Given the description of an element on the screen output the (x, y) to click on. 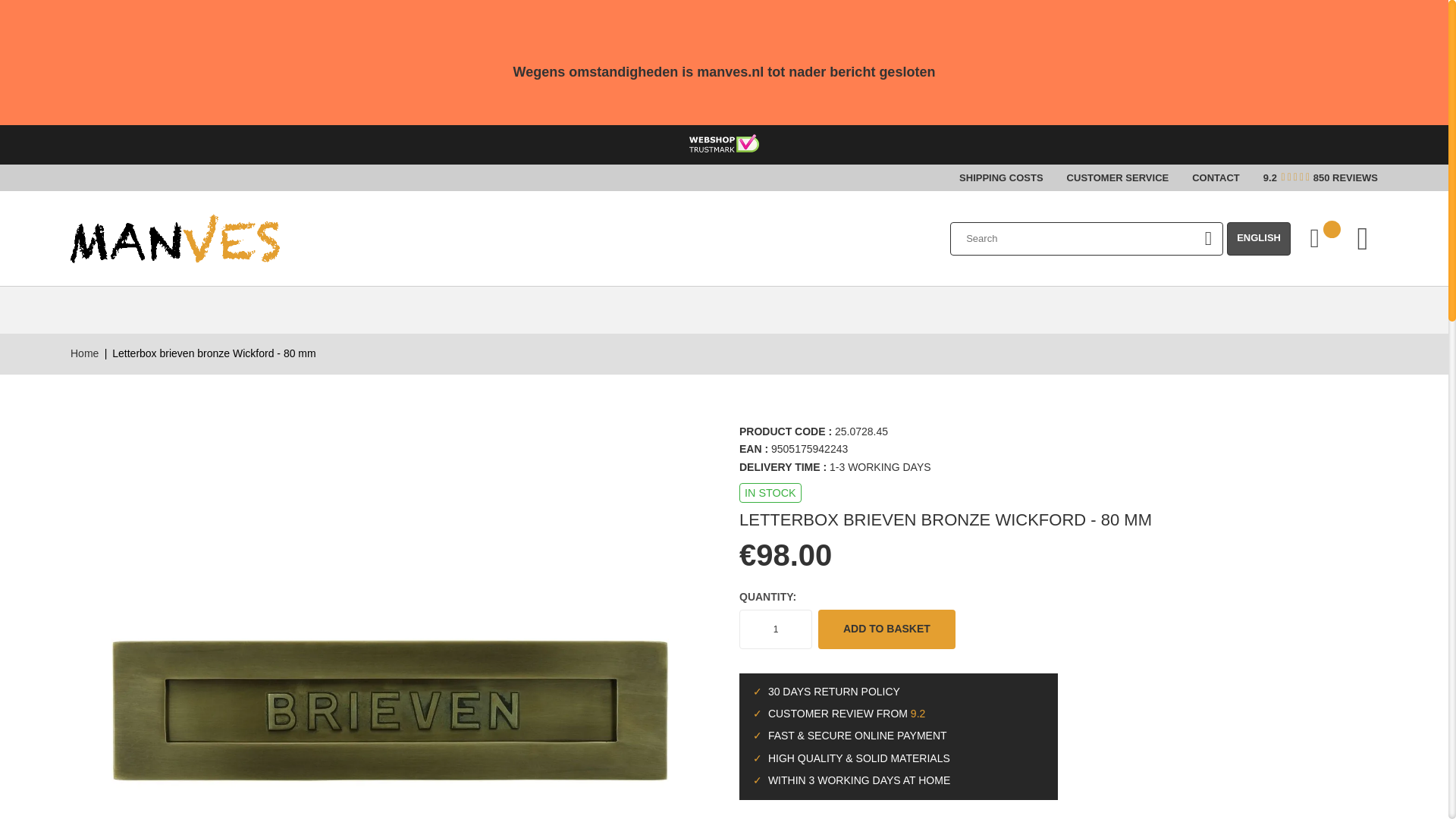
CUSTOMER SERVICE (1118, 177)
9.2 850 REVIEWS (1320, 177)
Go to Home Page (84, 353)
CONTACT (1216, 177)
SHIPPING COSTS (1001, 177)
Add to Basket (886, 629)
1 (775, 629)
Qty (775, 629)
Availability (770, 492)
Search (1207, 238)
